Given the description of an element on the screen output the (x, y) to click on. 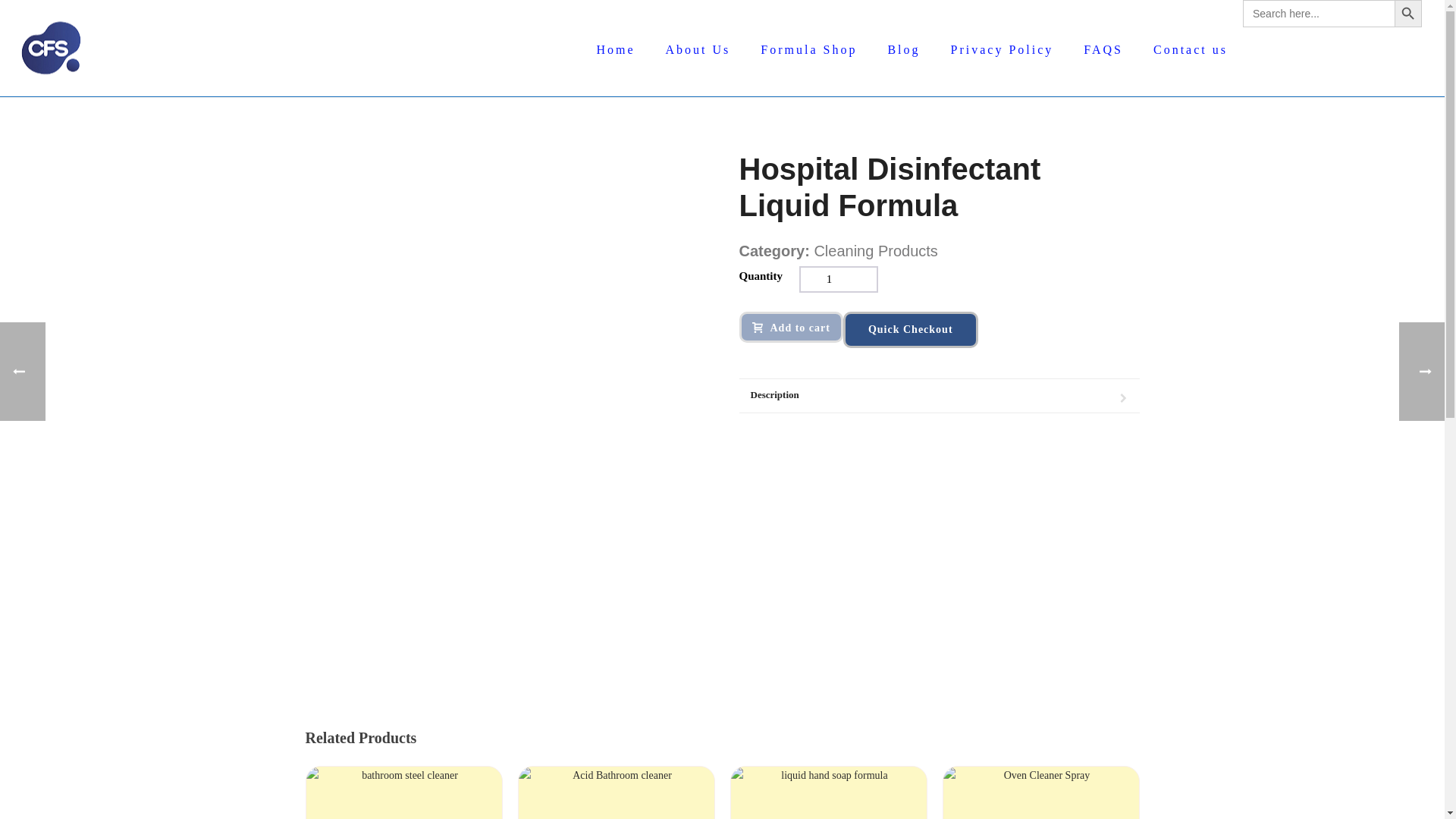
Qty (838, 279)
Formula Shop (808, 48)
Contact us (1190, 48)
About Us (697, 48)
Learn how to make (50, 48)
About Us (697, 48)
1 (838, 279)
Privacy Policy (1002, 48)
Formula Shop (808, 48)
Search Button (1408, 13)
Contact us (1190, 48)
Privacy Policy (1002, 48)
